Given the description of an element on the screen output the (x, y) to click on. 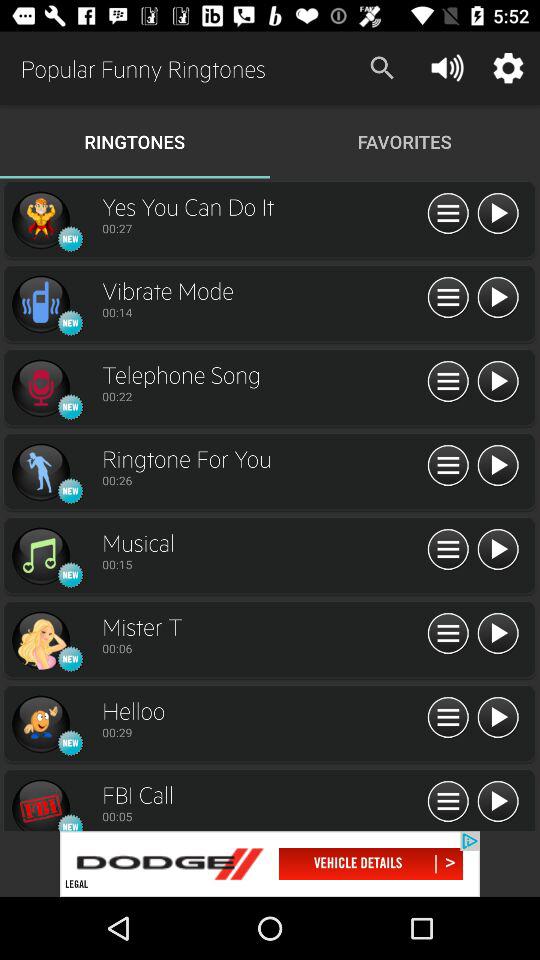
setting option (447, 213)
